Given the description of an element on the screen output the (x, y) to click on. 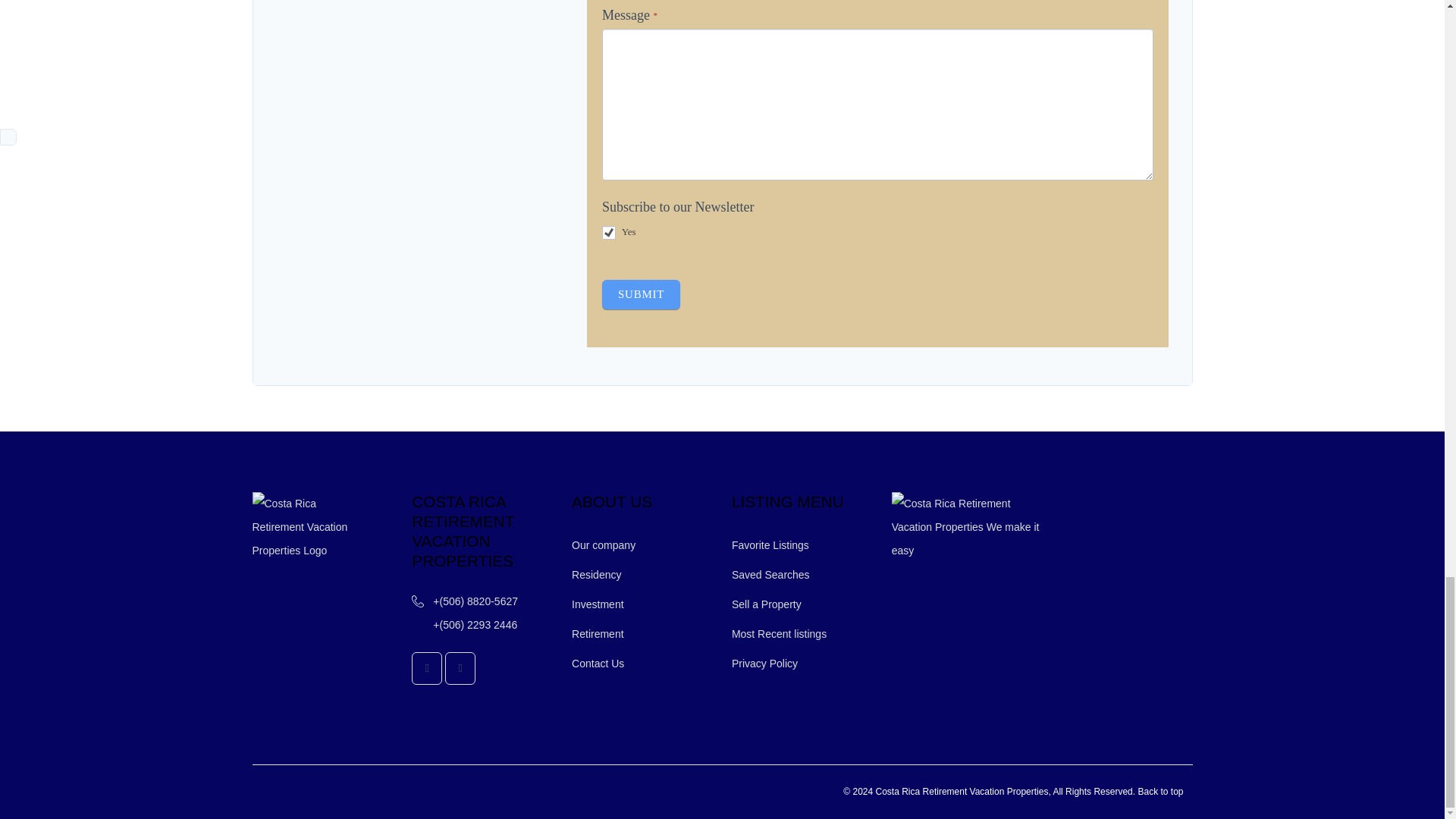
Yes (608, 232)
